Given the description of an element on the screen output the (x, y) to click on. 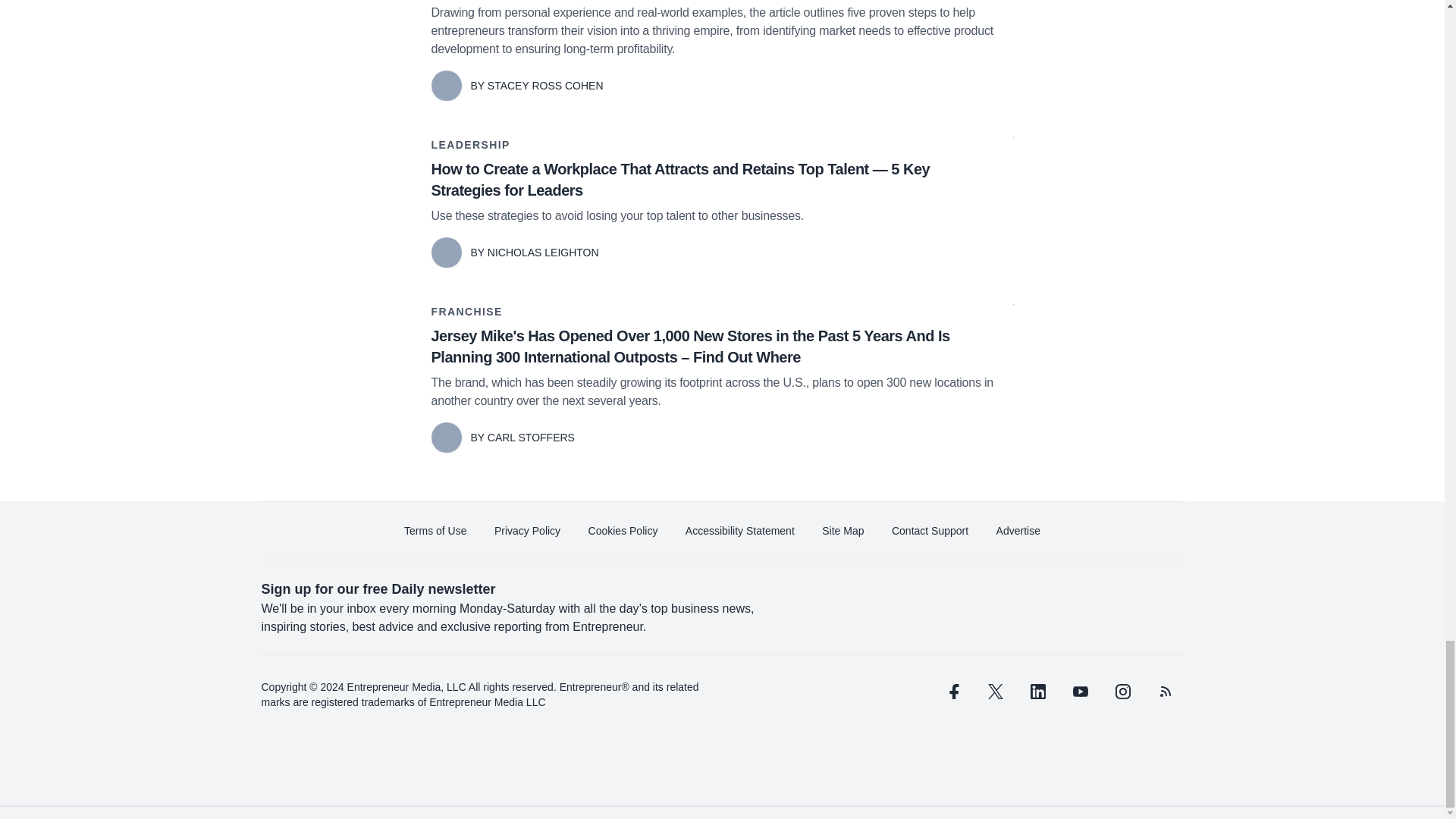
linkedin (1037, 691)
rss (1164, 691)
facebook (952, 691)
instagram (1121, 691)
youtube (1079, 691)
twitter (994, 691)
